Given the description of an element on the screen output the (x, y) to click on. 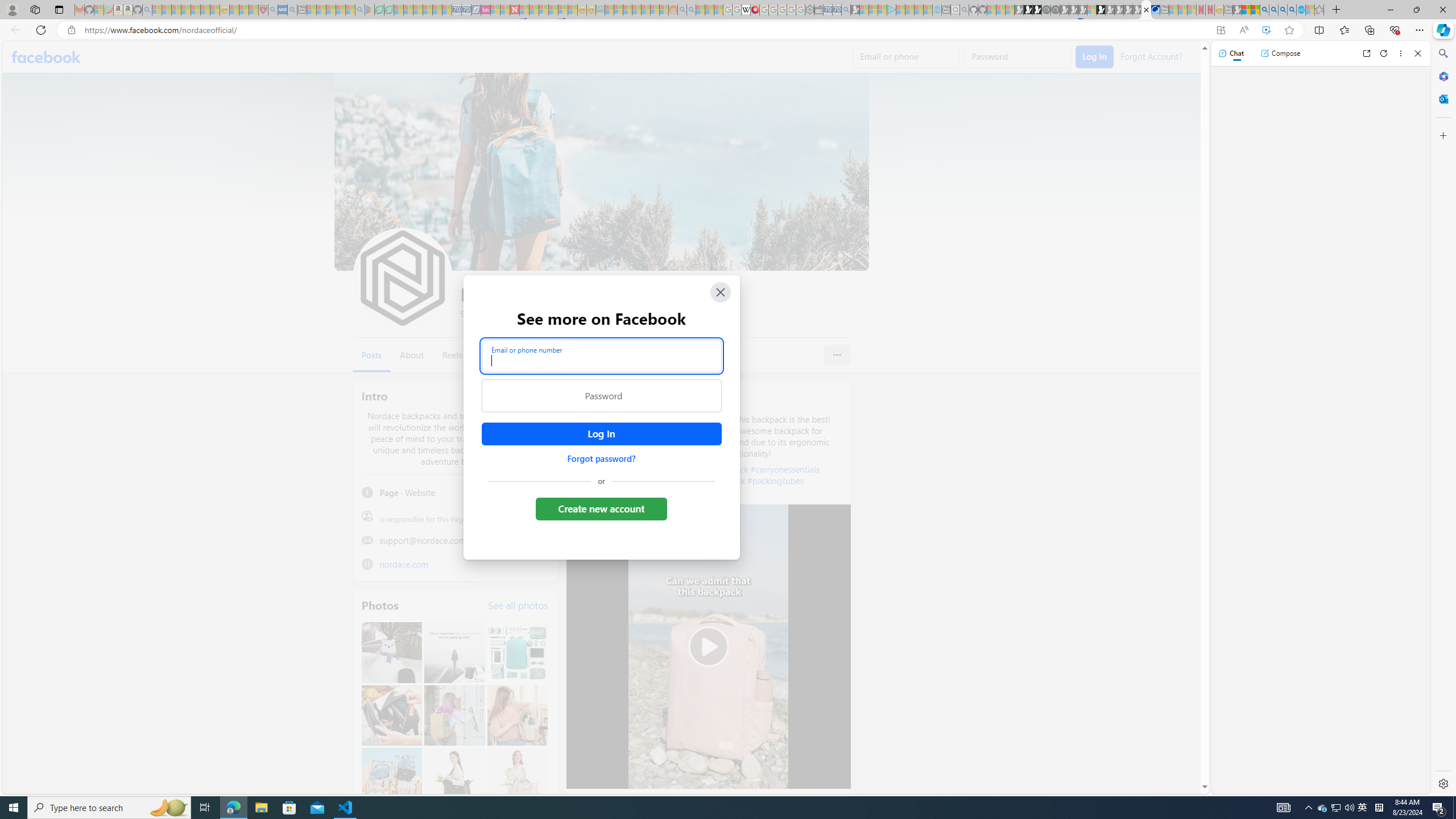
Nordace | Facebook (1146, 9)
Create new account (601, 508)
